Given the description of an element on the screen output the (x, y) to click on. 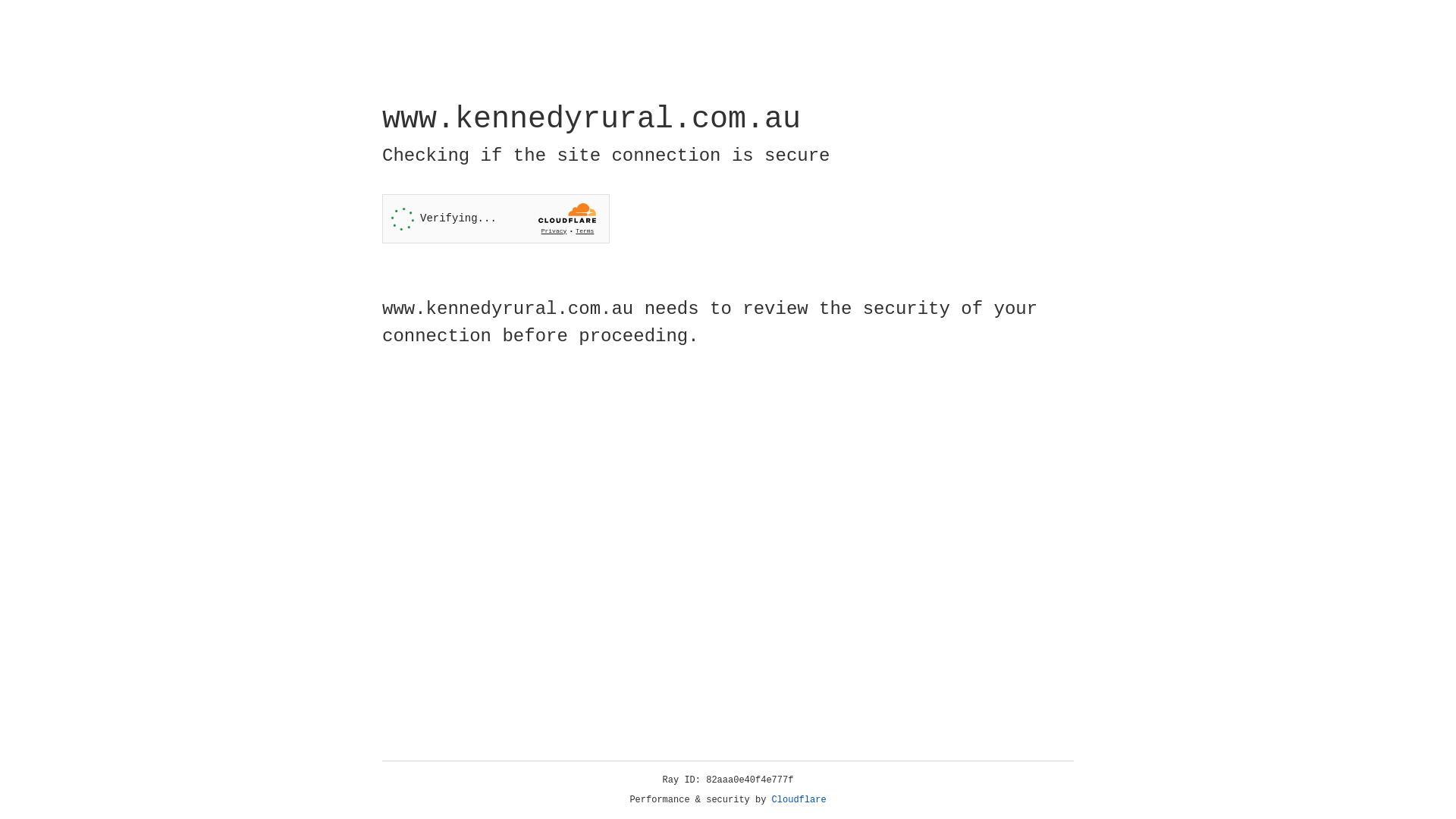
Cloudflare Element type: text (798, 799)
Widget containing a Cloudflare security challenge Element type: hover (495, 218)
